Given the description of an element on the screen output the (x, y) to click on. 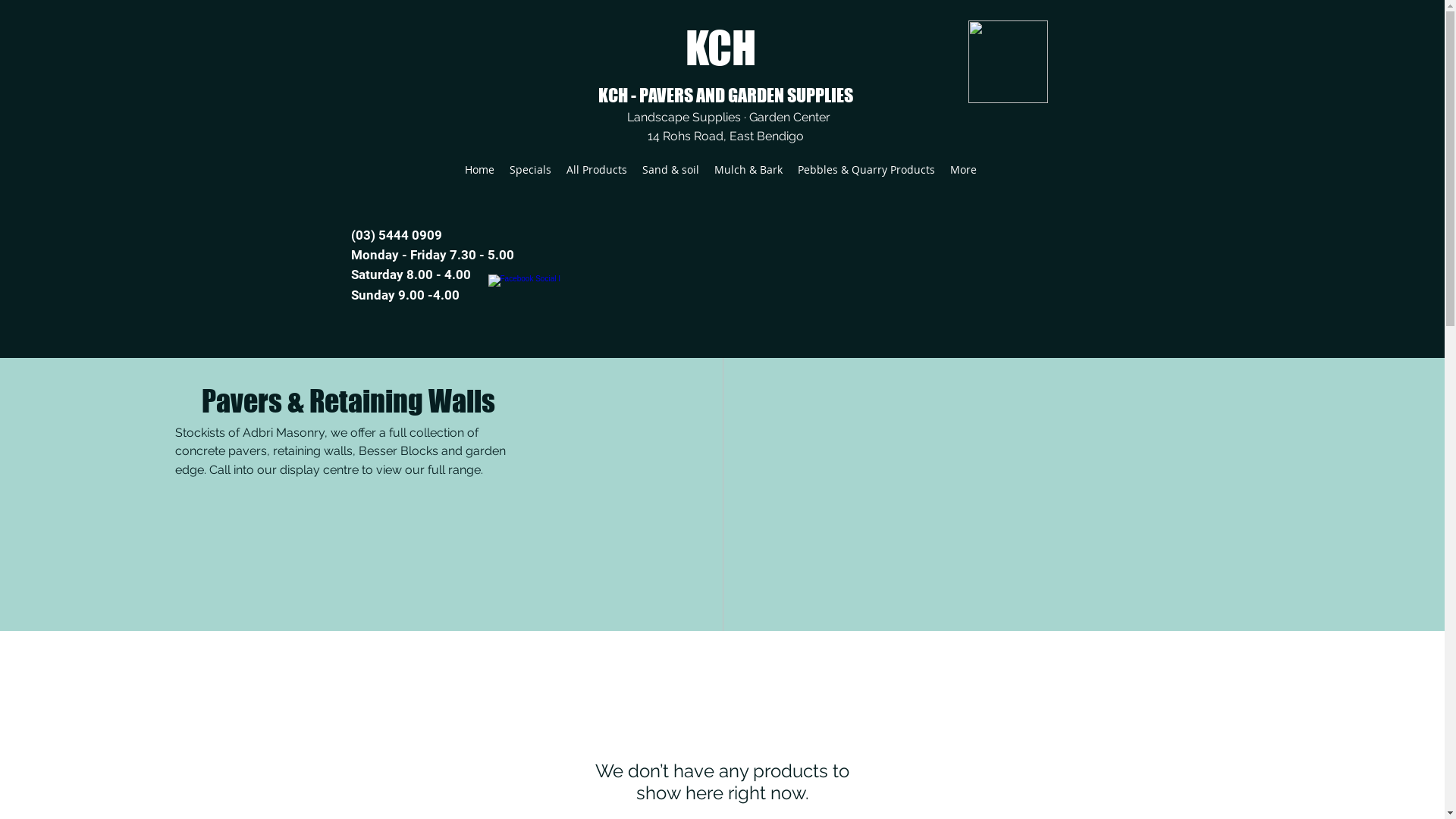
Home Element type: text (478, 169)
Specials Element type: text (530, 169)
Mulch & Bark Element type: text (748, 169)
All Products Element type: text (595, 169)
Pebbles & Quarry Products Element type: text (866, 169)
Sand & soil Element type: text (669, 169)
